Given the description of an element on the screen output the (x, y) to click on. 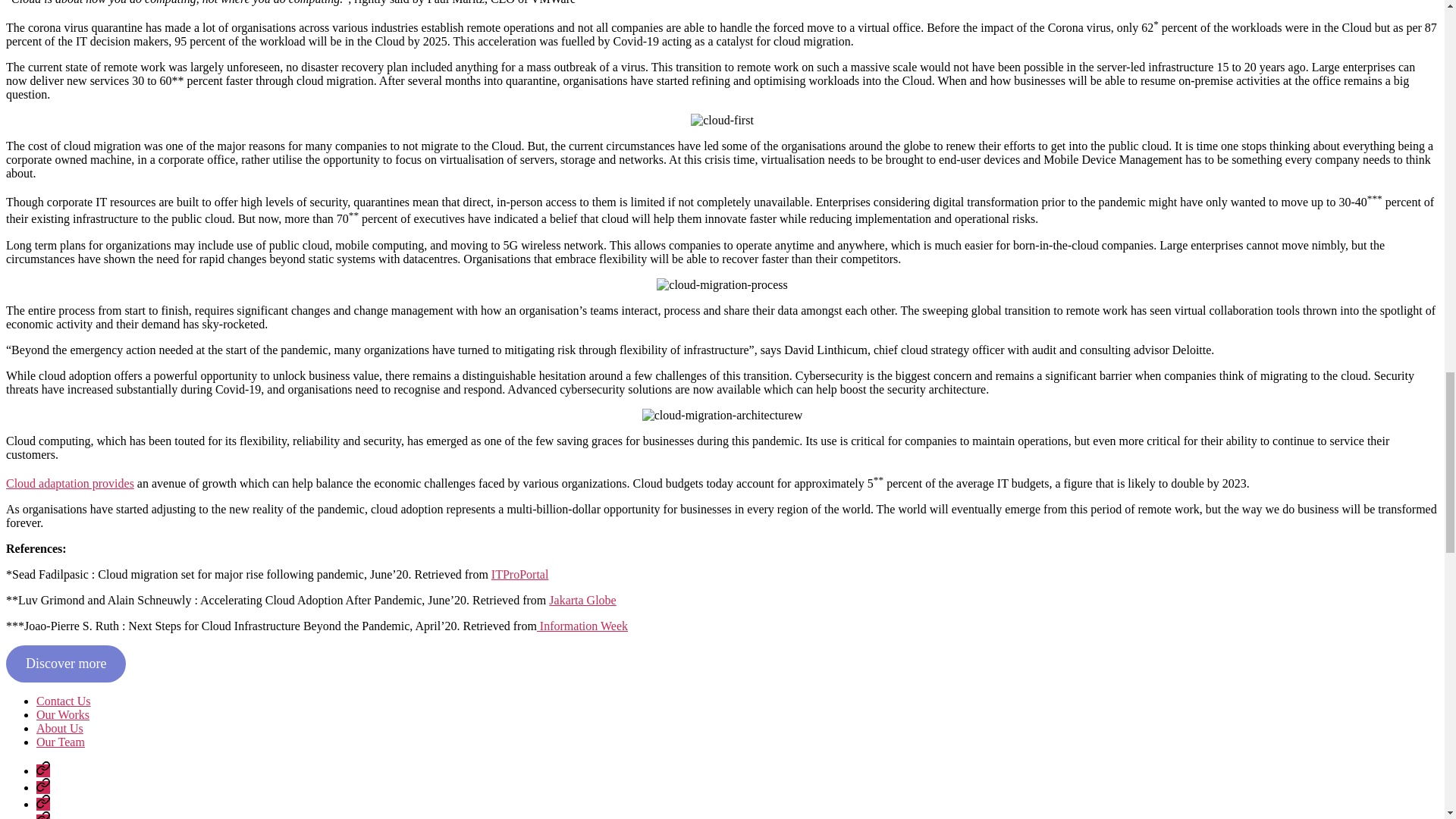
Jakarta Globe (581, 599)
Our Team (42, 816)
Information Week (582, 625)
Discover more (65, 663)
Our Team (60, 741)
About Us (59, 727)
Our Works (62, 714)
Our Works (42, 787)
Contact Us (63, 700)
ITProPortal (520, 574)
Cloud adaptation provides (69, 482)
Contact Us (42, 770)
About Us (42, 803)
